Given the description of an element on the screen output the (x, y) to click on. 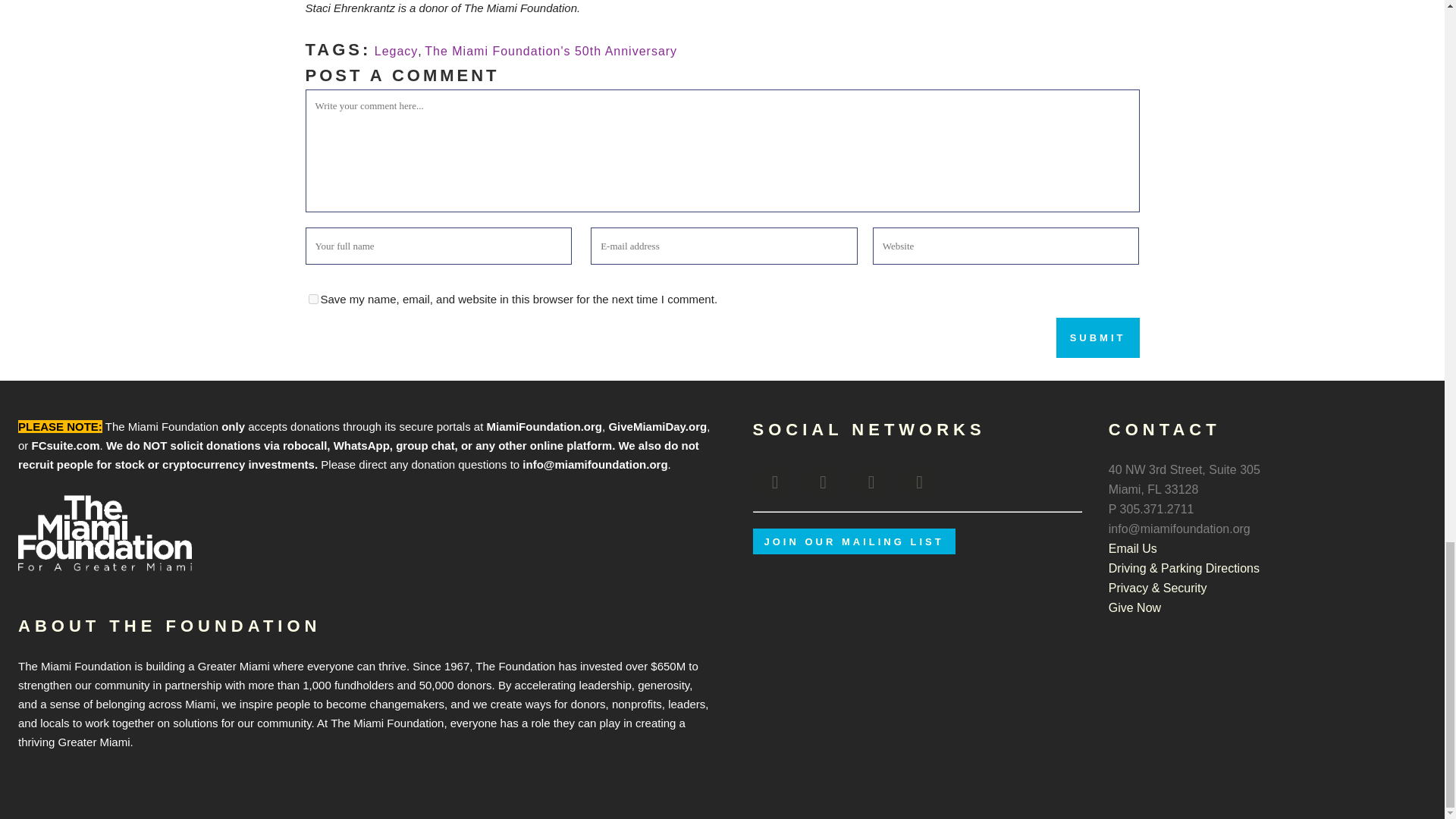
Submit (1098, 337)
yes (312, 298)
